Given the description of an element on the screen output the (x, y) to click on. 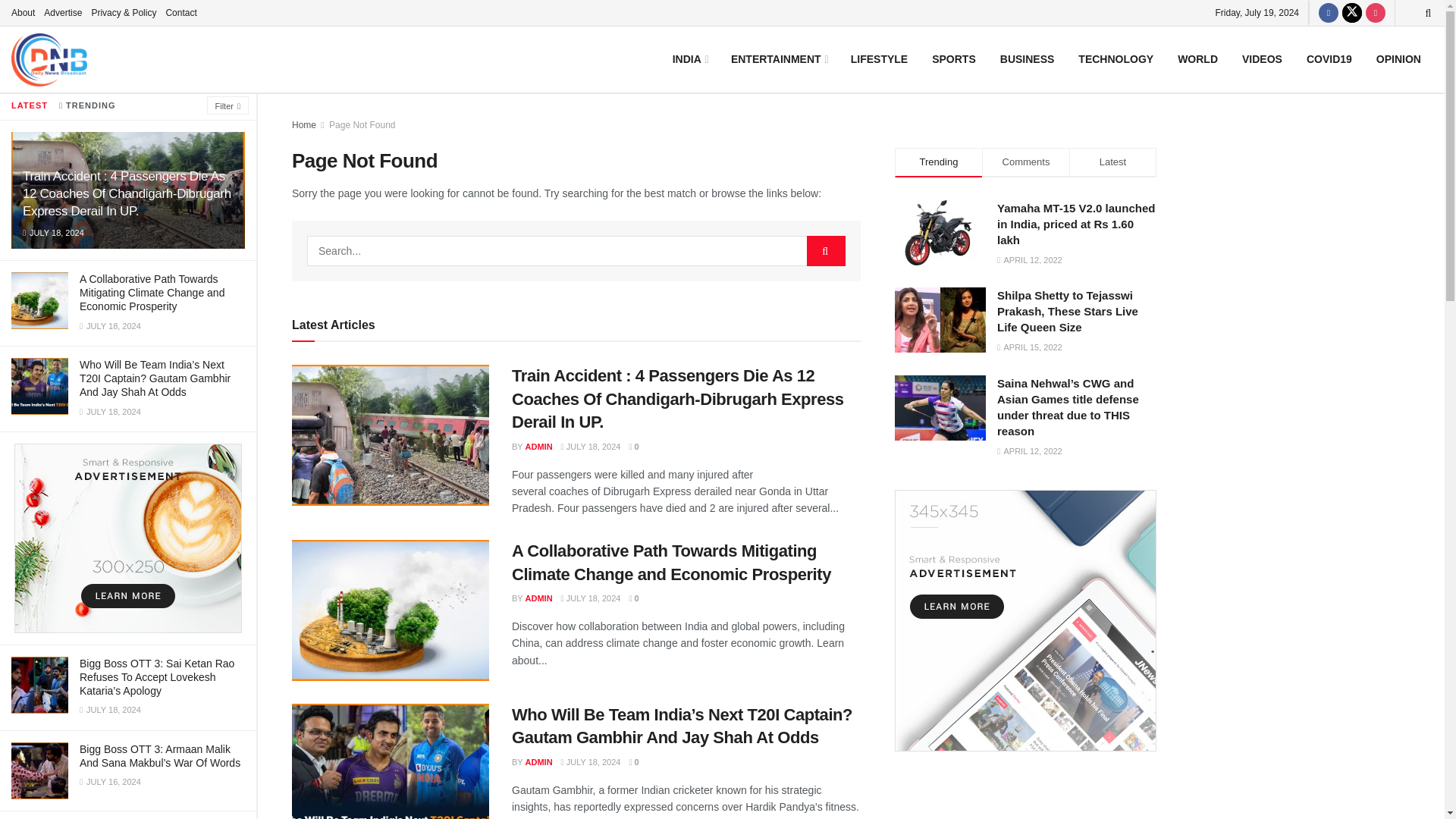
Filter (227, 105)
About (22, 12)
Advertise (62, 12)
Contact (180, 12)
